Given the description of an element on the screen output the (x, y) to click on. 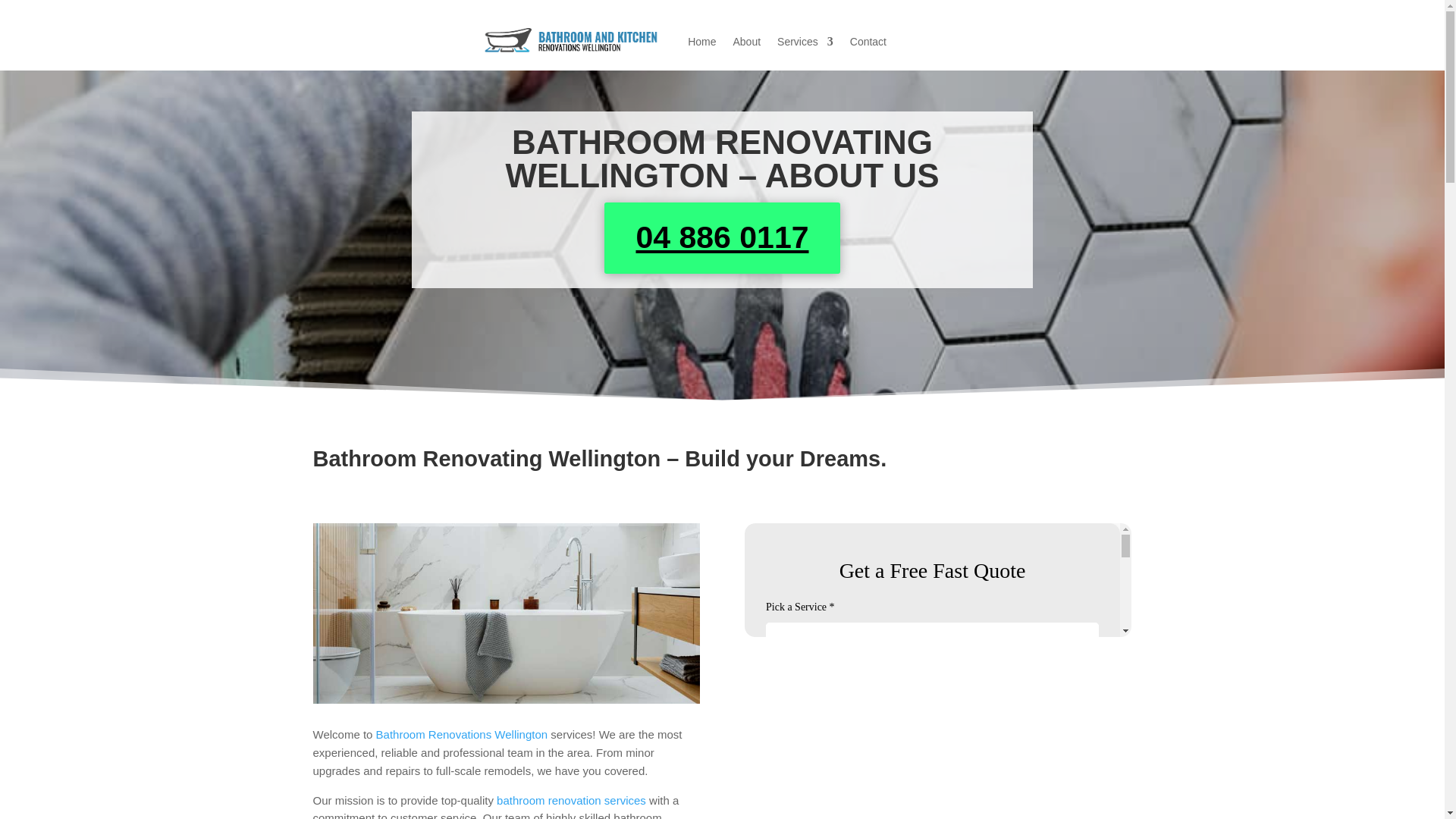
Services (804, 41)
bathroom renovation services (571, 799)
Bathroom Renovations Wellington (461, 734)
Bathroom Reno (937, 580)
04 886 0117 (722, 237)
Wellington-bathroom-renovation-2 (505, 613)
